Given the description of an element on the screen output the (x, y) to click on. 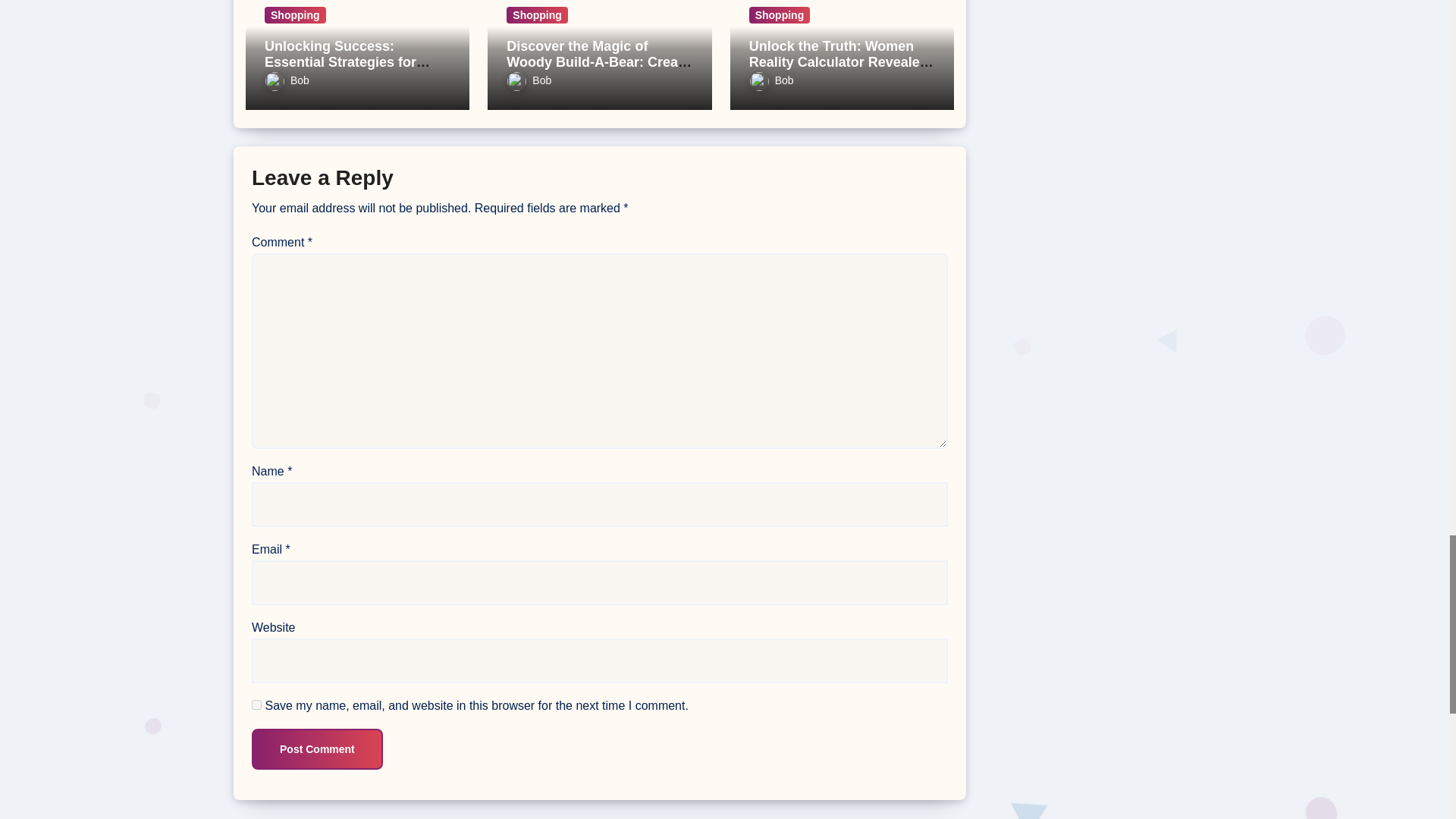
Bob (286, 80)
yes (256, 705)
Post Comment (316, 748)
Shopping (295, 14)
Shopping (536, 14)
